Given the description of an element on the screen output the (x, y) to click on. 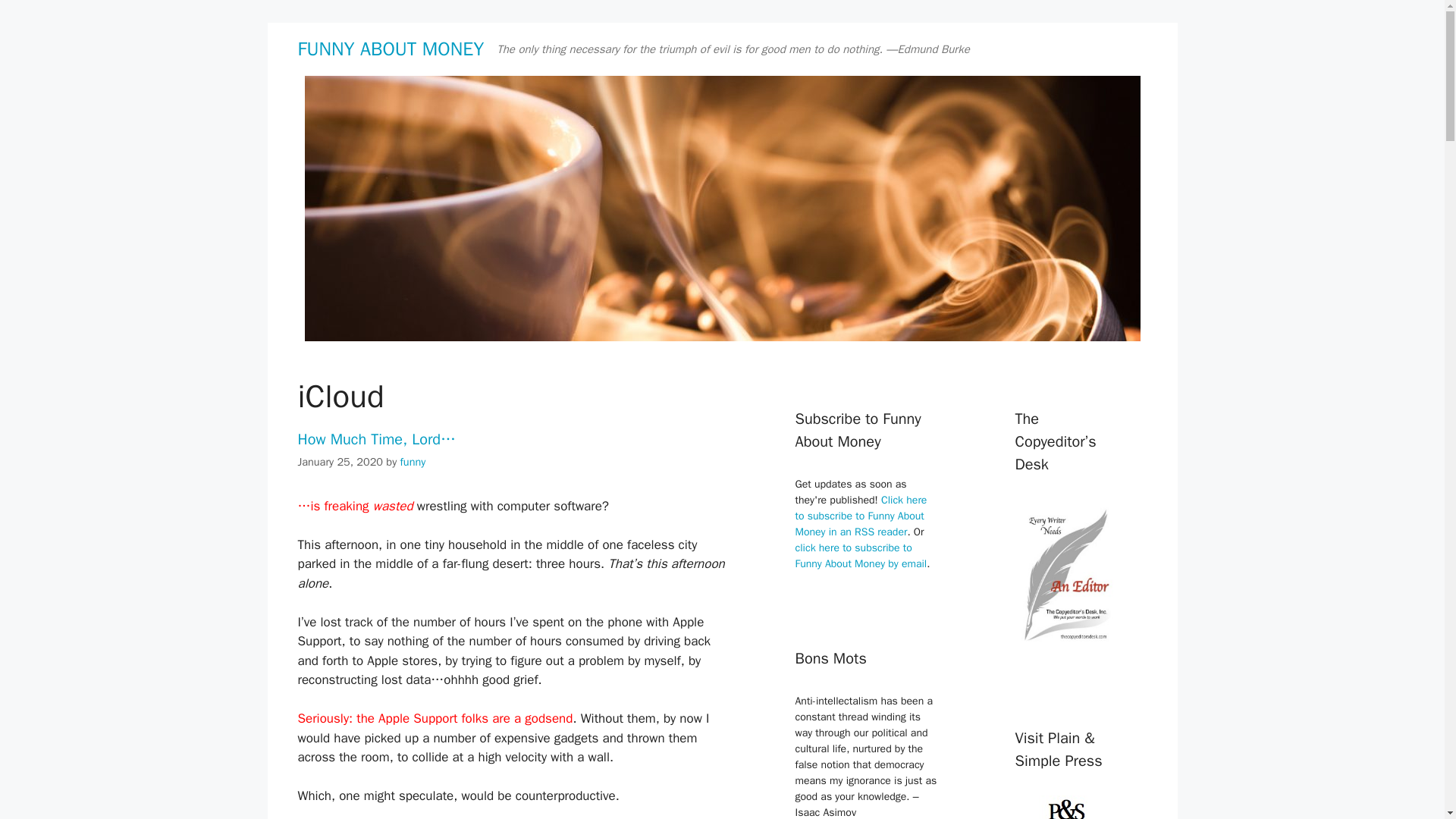
FUNNY ABOUT MONEY (390, 48)
funny (413, 461)
click here to subscribe to Funny About Money by email (860, 555)
View all posts by funny (413, 461)
